Given the description of an element on the screen output the (x, y) to click on. 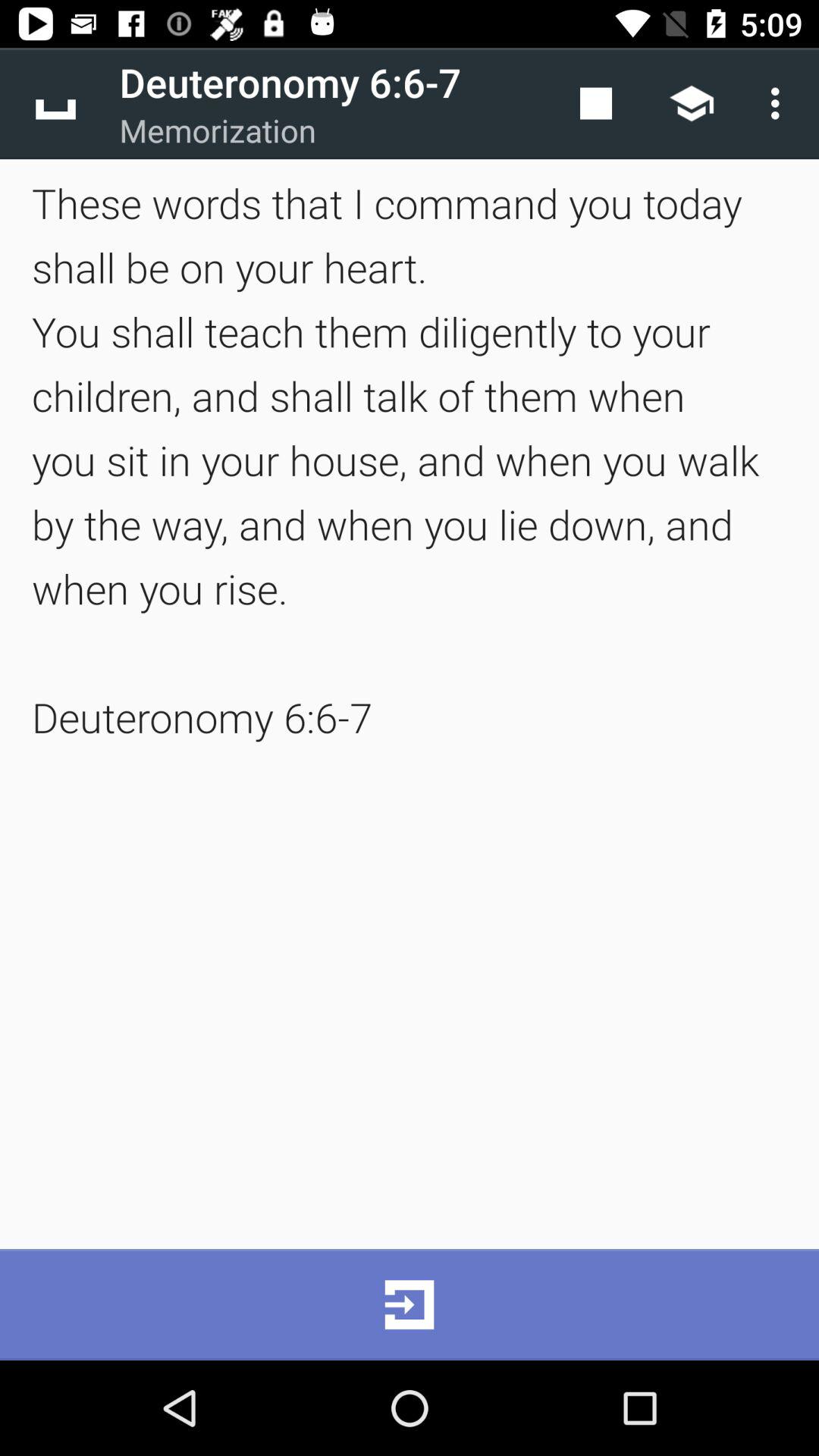
next verse (409, 1304)
